Given the description of an element on the screen output the (x, y) to click on. 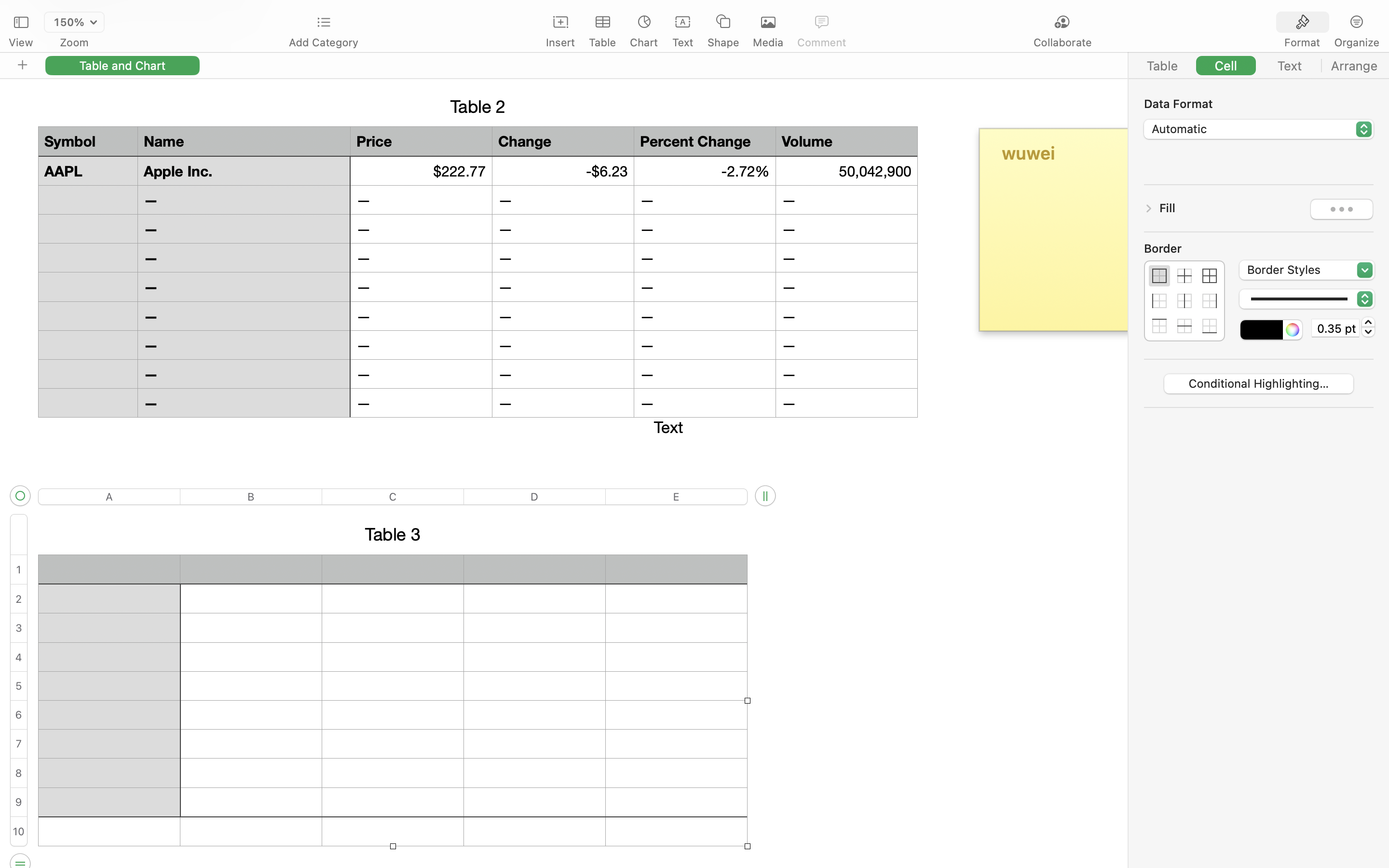
Fill Element type: AXStaticText (1167, 207)
